Given the description of an element on the screen output the (x, y) to click on. 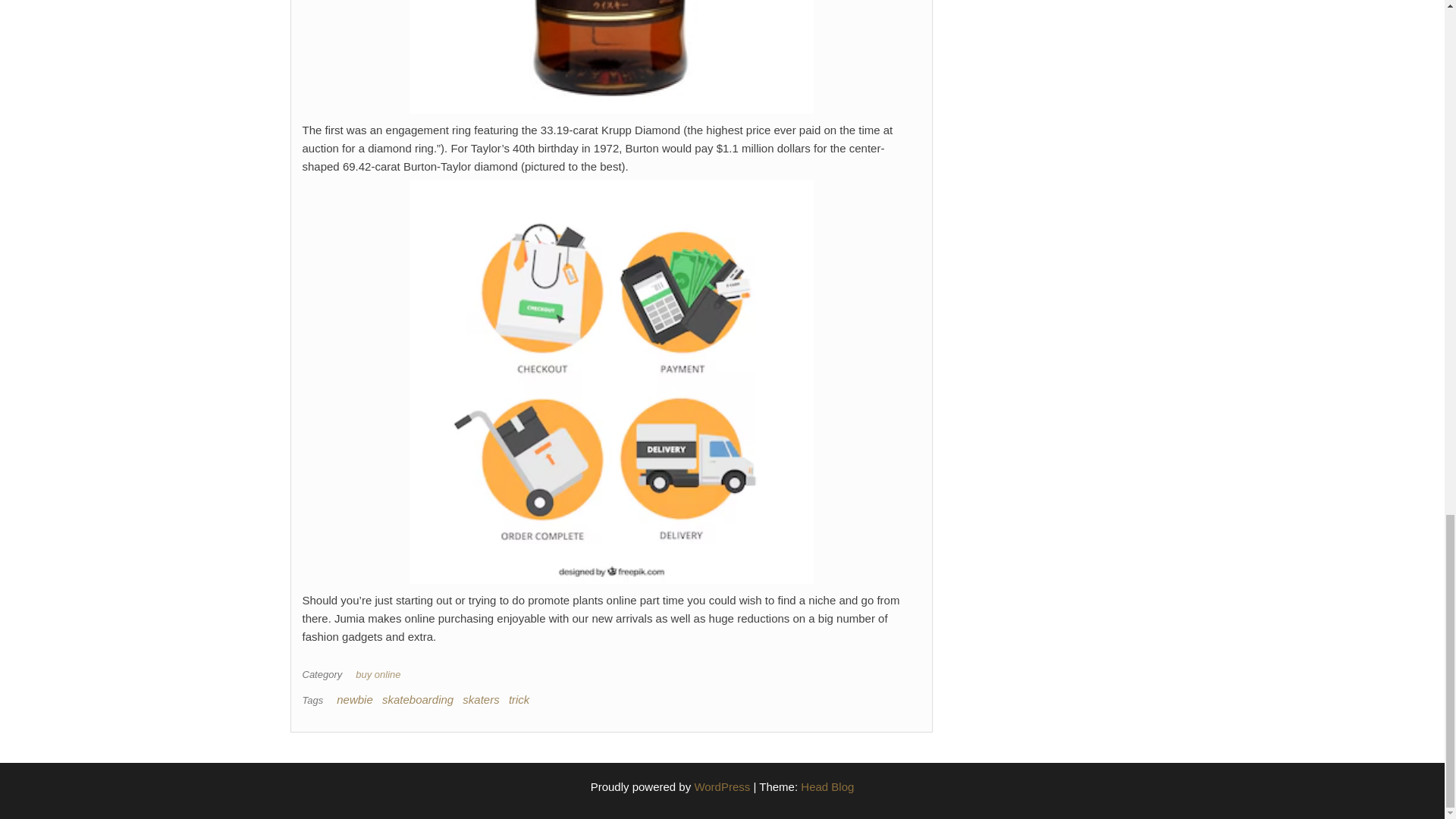
skateboarding (416, 698)
newbie (354, 698)
trick (518, 698)
buy online (380, 674)
skaters (481, 698)
